Given the description of an element on the screen output the (x, y) to click on. 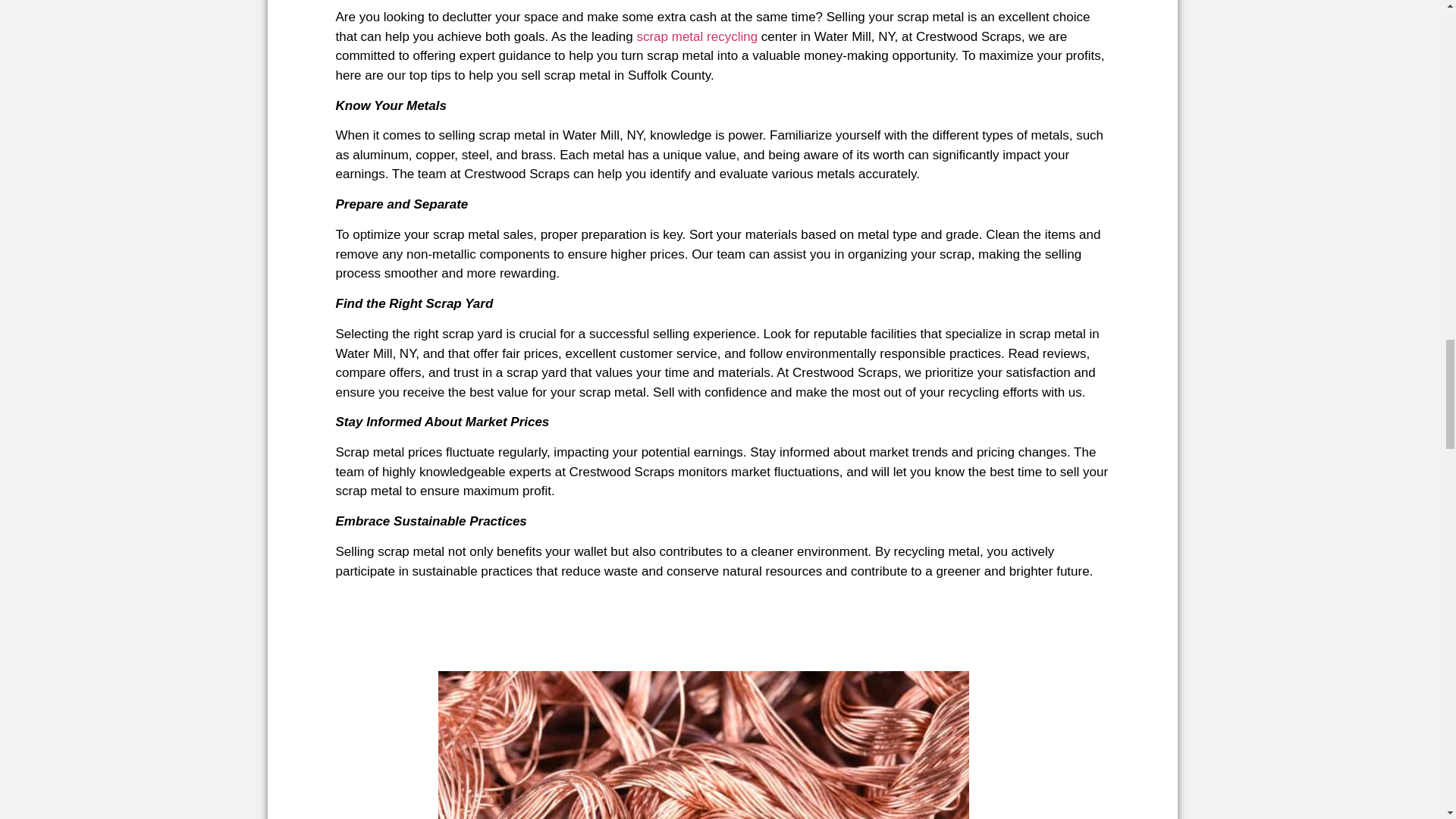
Scrap Metal Recycling Suffolk County NY Areas Served (696, 36)
Scrap,Copper,Wire,For,Recycling (703, 744)
scrap metal recycling (696, 36)
